Given the description of an element on the screen output the (x, y) to click on. 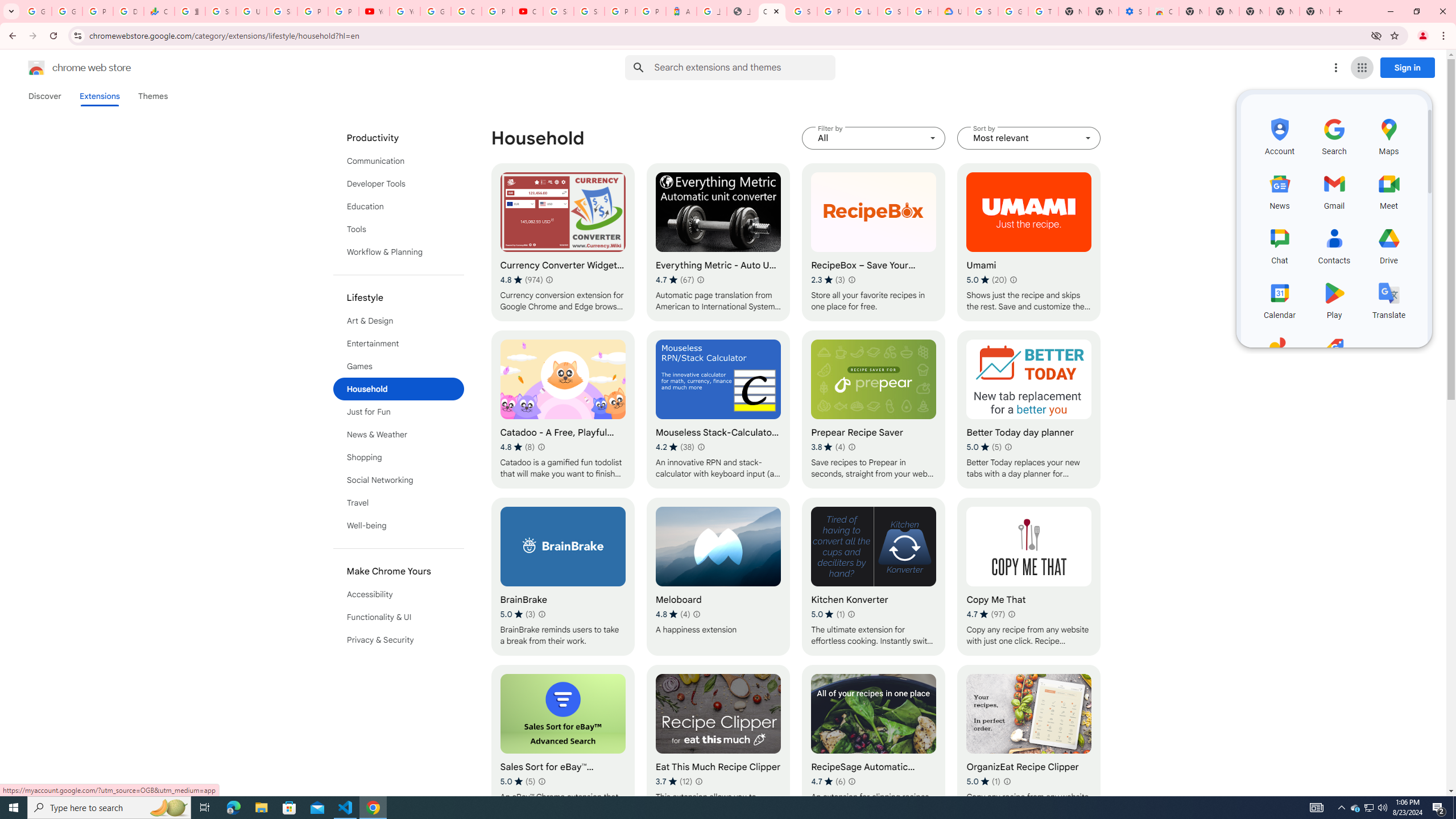
Average rating 4.7 out of 5 stars. 6 ratings. (827, 781)
BrainBrake (562, 576)
Chrome Web Store logo (36, 67)
Settings - Accessibility (1133, 11)
Average rating 4.2 out of 5 stars. 38 ratings. (674, 446)
Chrome Web Store - Household (771, 11)
YouTube (373, 11)
Filter by All (874, 137)
Chrome Web Store logo chrome web store (67, 67)
